Given the description of an element on the screen output the (x, y) to click on. 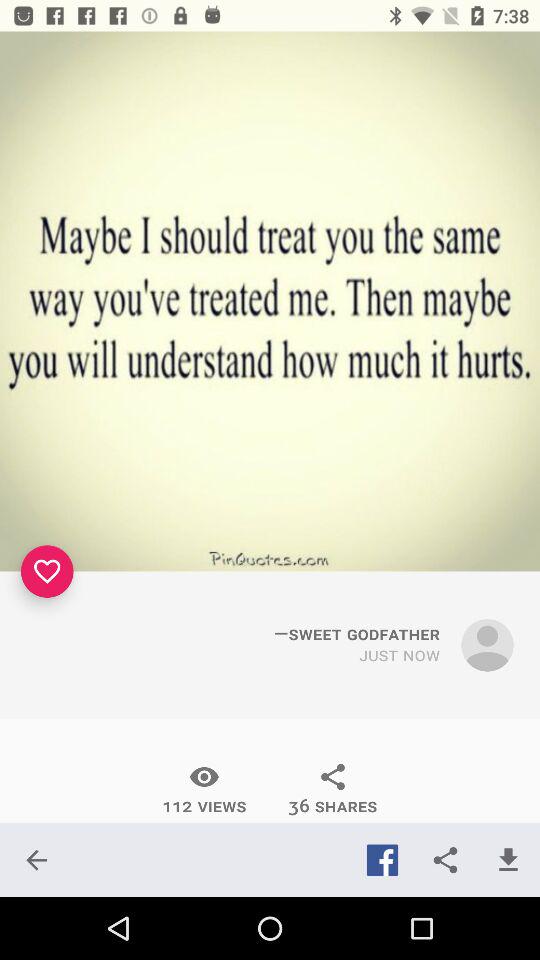
tap icon on the left (47, 571)
